Given the description of an element on the screen output the (x, y) to click on. 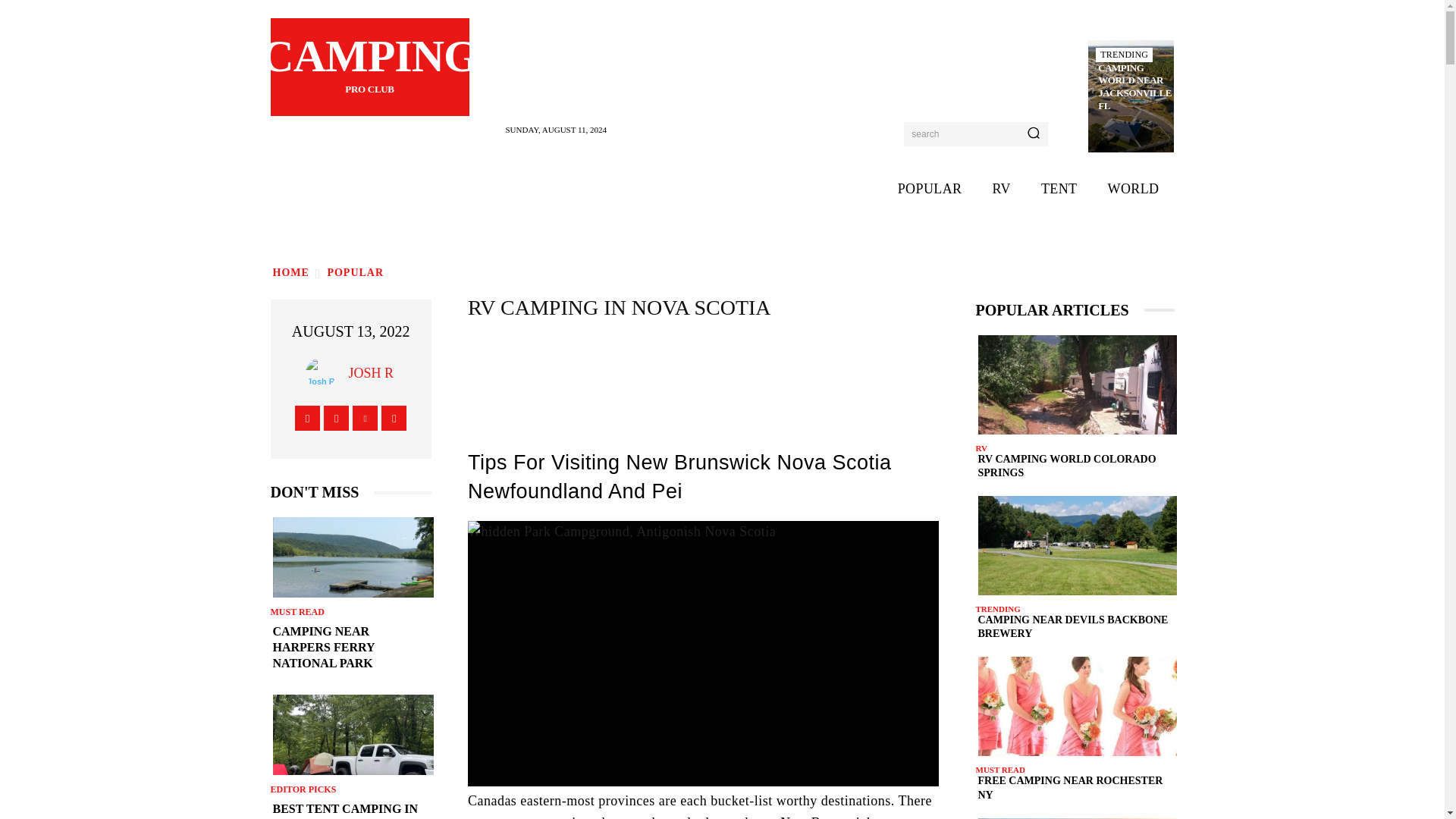
HOME (290, 273)
TRENDING (1124, 54)
Youtube (393, 416)
Instagram (336, 416)
POPULAR (354, 273)
WORLD (1132, 189)
JOSH R (371, 372)
Camping World Near Jacksonville Fl (1134, 87)
CAMPING WORLD NEAR JACKSONVILLE FL (1134, 87)
MUST READ (296, 611)
